Given the description of an element on the screen output the (x, y) to click on. 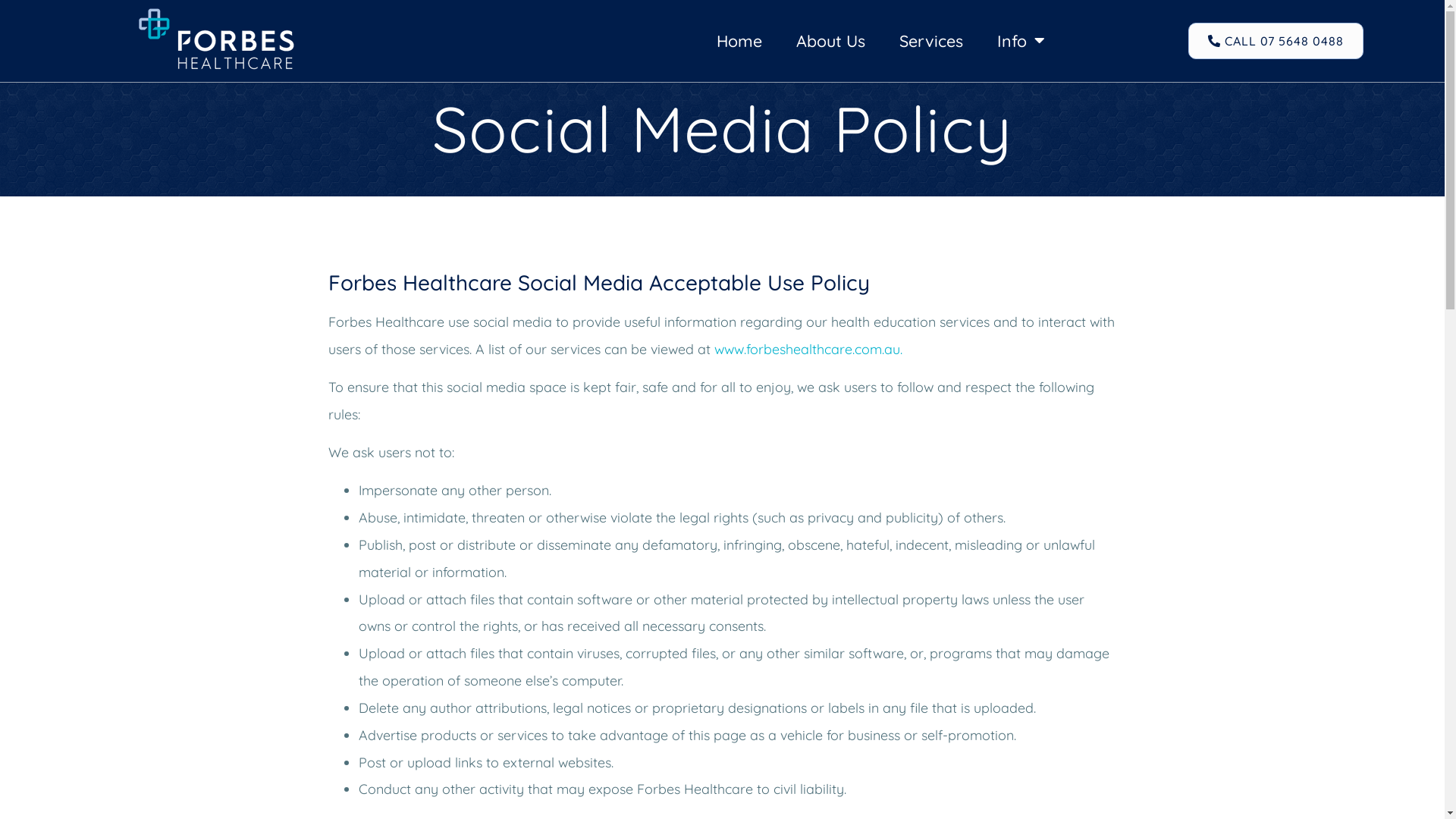
About Us Element type: text (830, 40)
CALL 07 5648 0488 Element type: text (1275, 40)
Home Element type: text (739, 40)
www.forbeshealthcare.com.au. Element type: text (808, 348)
Services Element type: text (931, 40)
Info Element type: text (1020, 40)
